Given the description of an element on the screen output the (x, y) to click on. 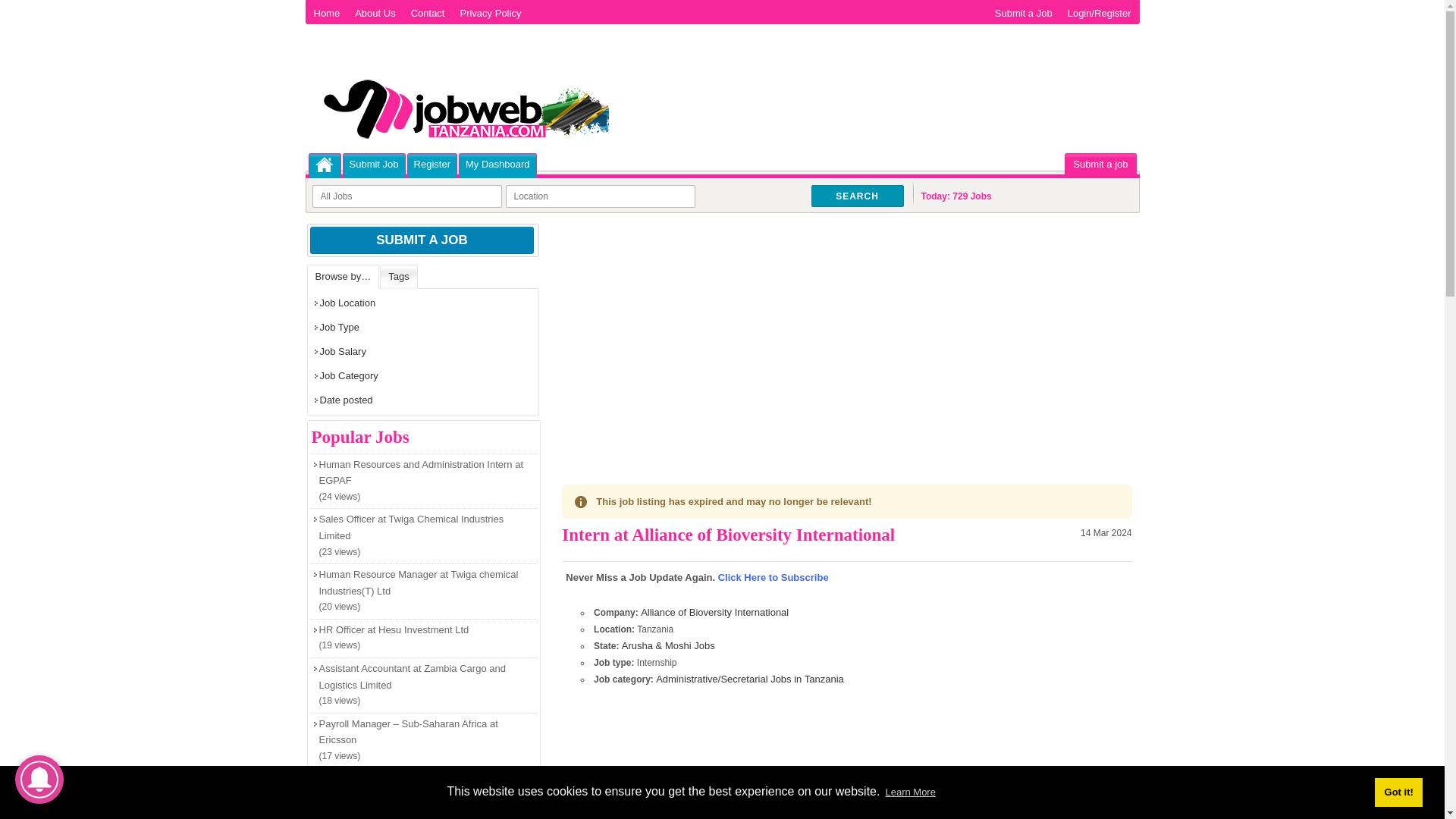
SEARCH (857, 196)
Location (599, 196)
Home (324, 164)
Advertisement (846, 761)
Click Here to Subscribe (772, 577)
My Dashboard (497, 163)
Privacy Policy (489, 12)
Job Location (423, 303)
Alliance of Bioversity International (714, 612)
Submit a job (1099, 163)
Advertisement (846, 335)
About Us (375, 12)
Submit a Job (1023, 12)
Contact (427, 12)
SUBMIT A JOB (421, 239)
